Given the description of an element on the screen output the (x, y) to click on. 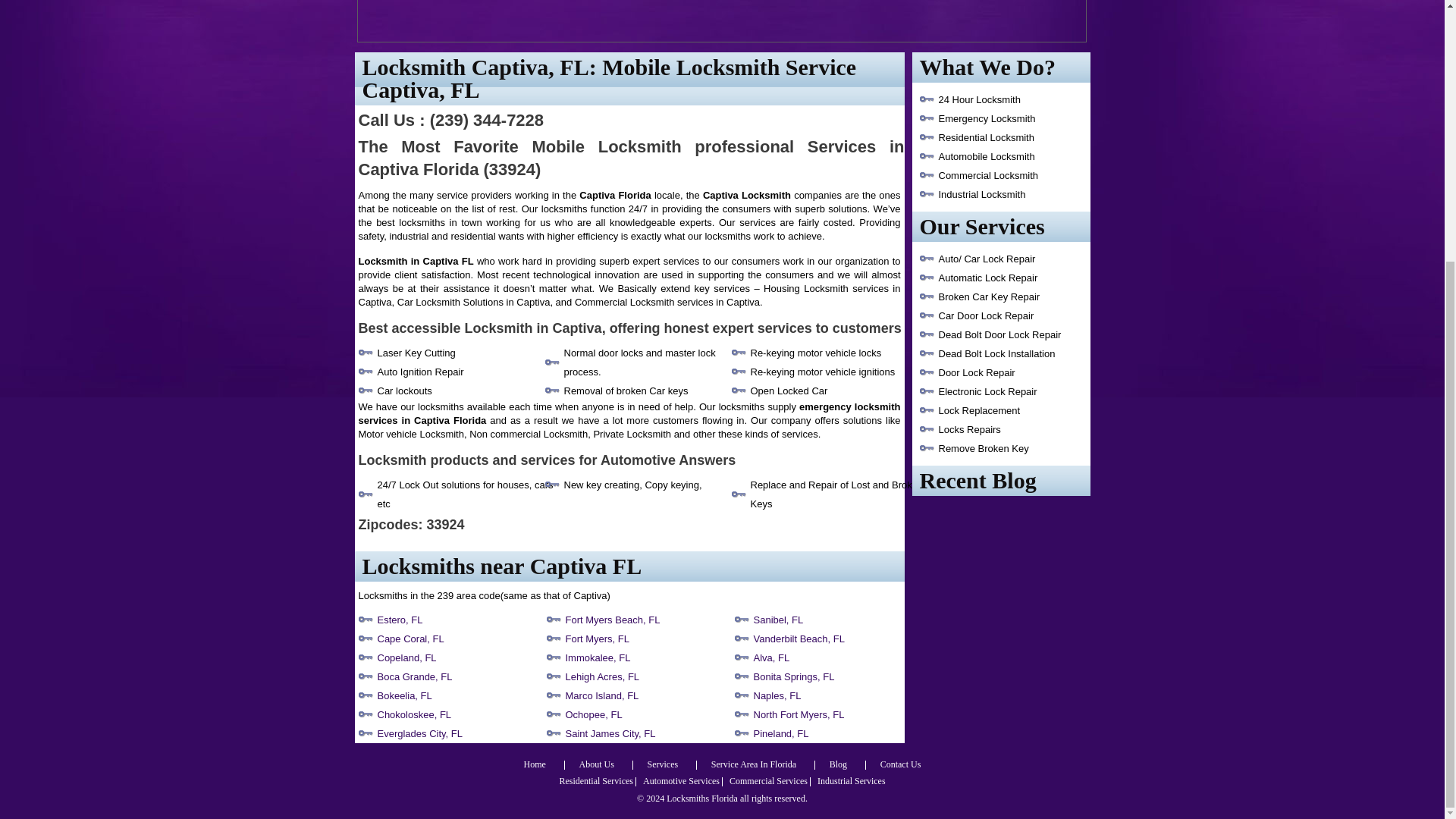
Lehigh Acres, FL (603, 676)
Copeland, FL (406, 657)
Pineland, FL (781, 733)
Vanderbilt Beach, FL (799, 638)
Fort Myers, FL (598, 638)
Chokoloskee, FL (414, 714)
Fort Myers Beach, FL (613, 619)
